Given the description of an element on the screen output the (x, y) to click on. 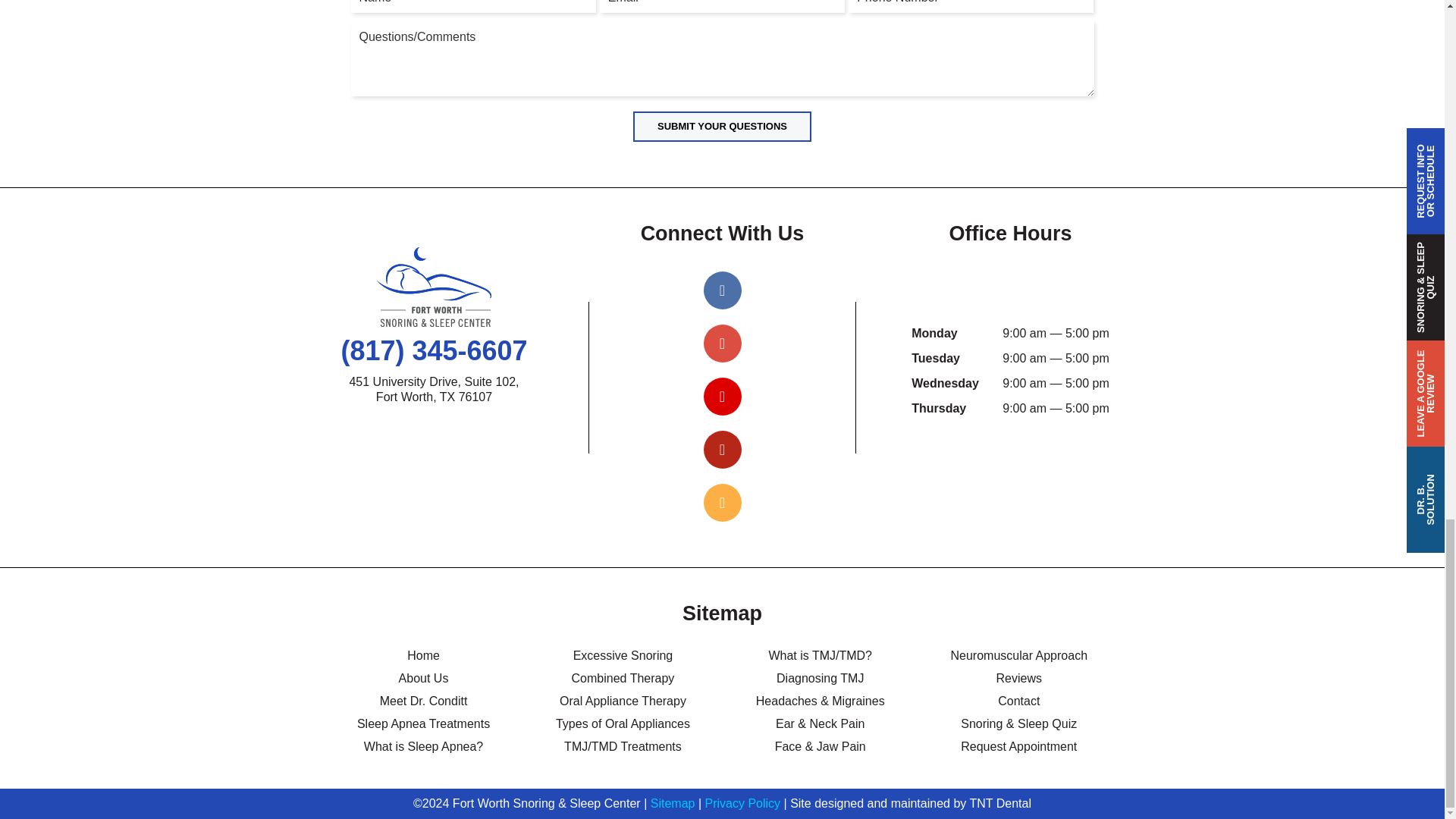
Submit Your Questions (721, 126)
